Given the description of an element on the screen output the (x, y) to click on. 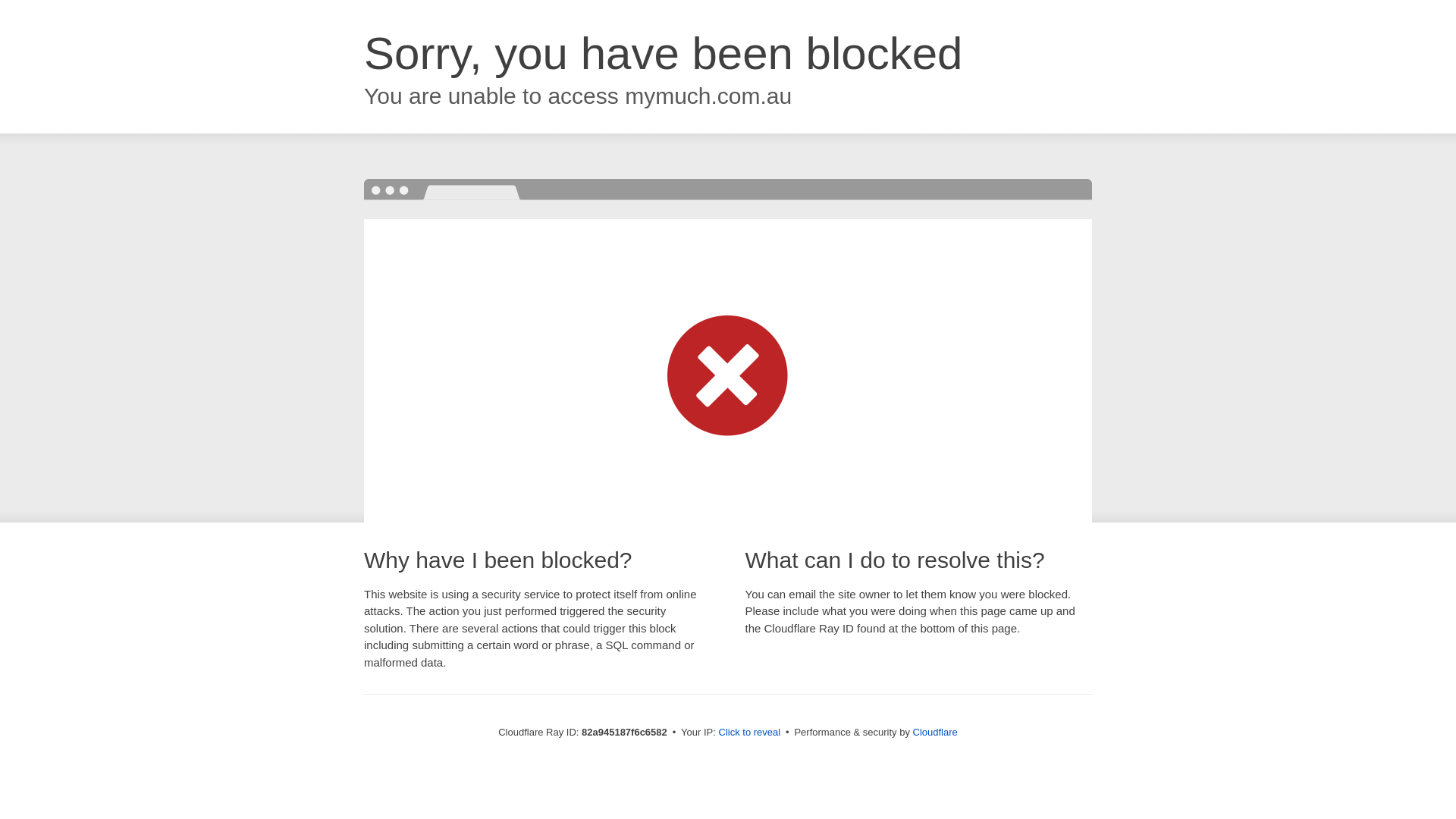
Click to reveal Element type: text (749, 732)
Cloudflare Element type: text (935, 731)
